Given the description of an element on the screen output the (x, y) to click on. 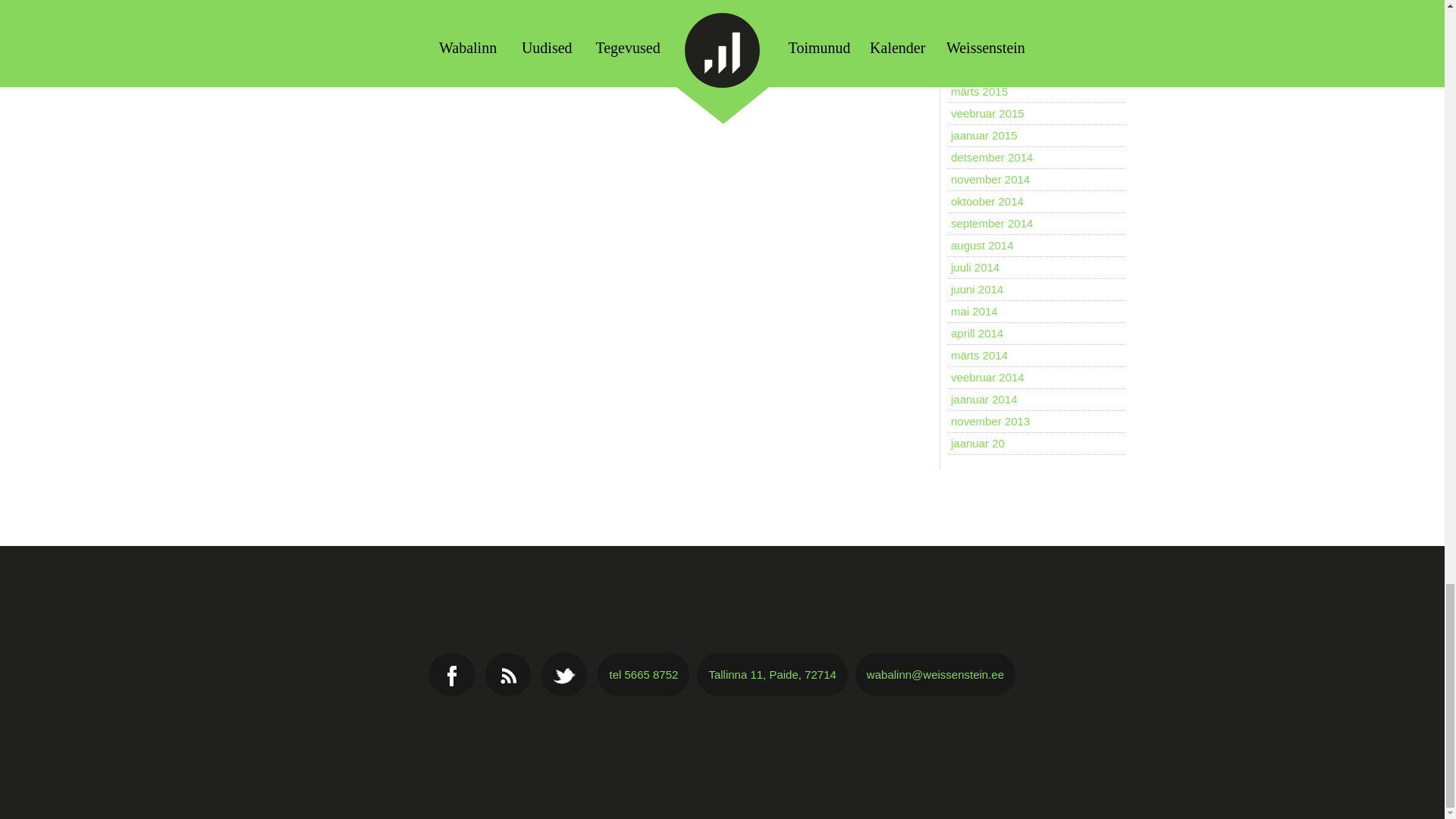
socialmedia (564, 675)
socialmedia (452, 675)
socialmedia (507, 675)
